Given the description of an element on the screen output the (x, y) to click on. 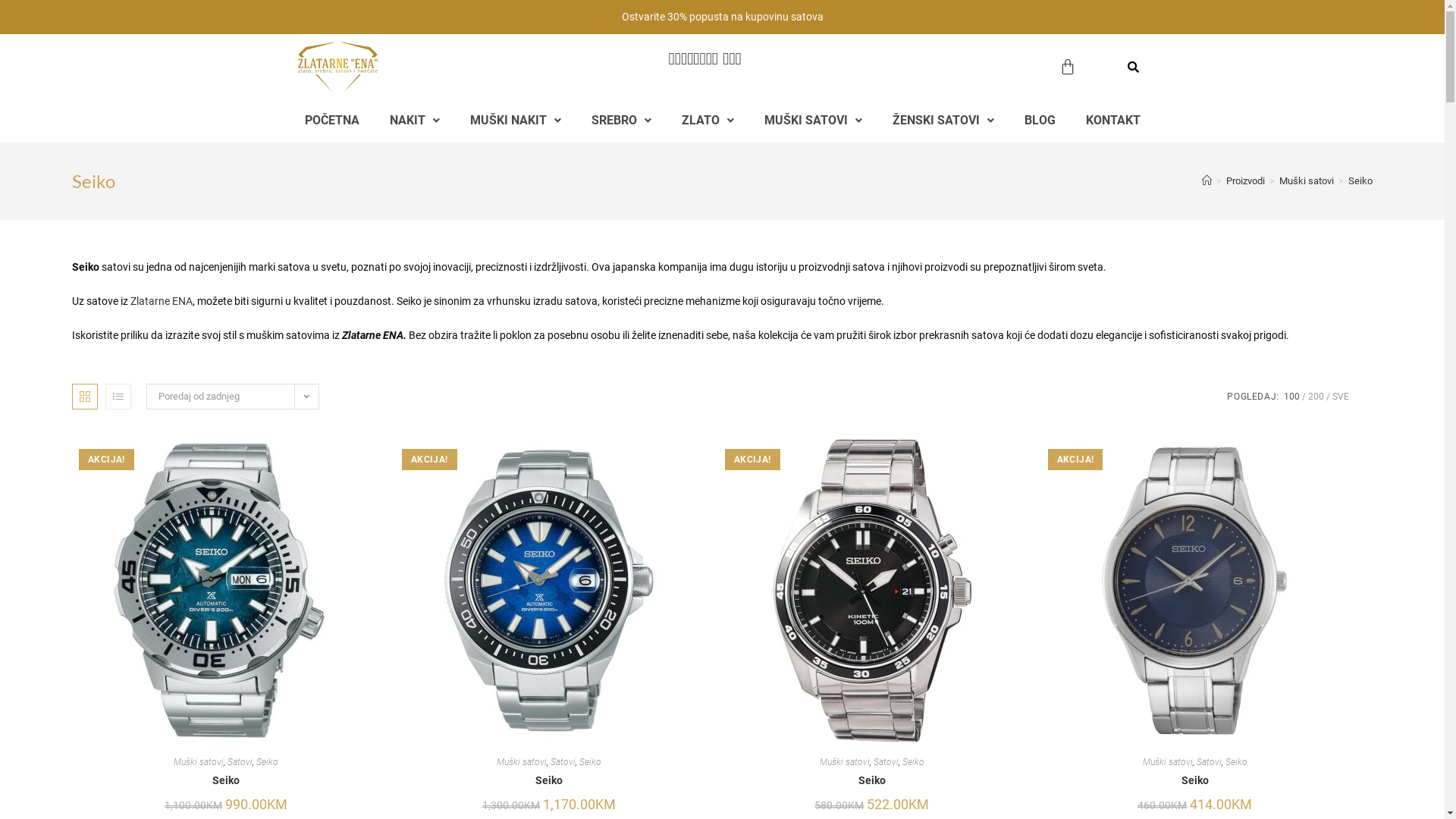
Seiko Element type: text (590, 761)
NAKIT Element type: text (414, 120)
100 Element type: text (1291, 396)
 Zlatarne ENA Element type: text (160, 300)
SREBRO Element type: text (621, 120)
Seiko Element type: text (225, 780)
Seiko Element type: text (913, 761)
KONTAKT Element type: text (1112, 120)
Satovi Element type: text (1208, 761)
ZLATO Element type: text (706, 120)
Satovi Element type: text (239, 761)
Seiko Element type: text (548, 780)
Proizvodi Element type: text (1245, 180)
SVE Element type: text (1340, 396)
Satovi Element type: text (562, 761)
Prikaz popisa Element type: hover (118, 396)
Seiko Element type: text (267, 761)
Seiko Element type: text (1194, 780)
BLOG Element type: text (1039, 120)
Seiko Element type: text (1236, 761)
Satovi Element type: text (885, 761)
Seiko Element type: text (1360, 180)
200 Element type: text (1316, 396)
Seiko Element type: text (871, 780)
Search Element type: hover (1130, 68)
